Given the description of an element on the screen output the (x, y) to click on. 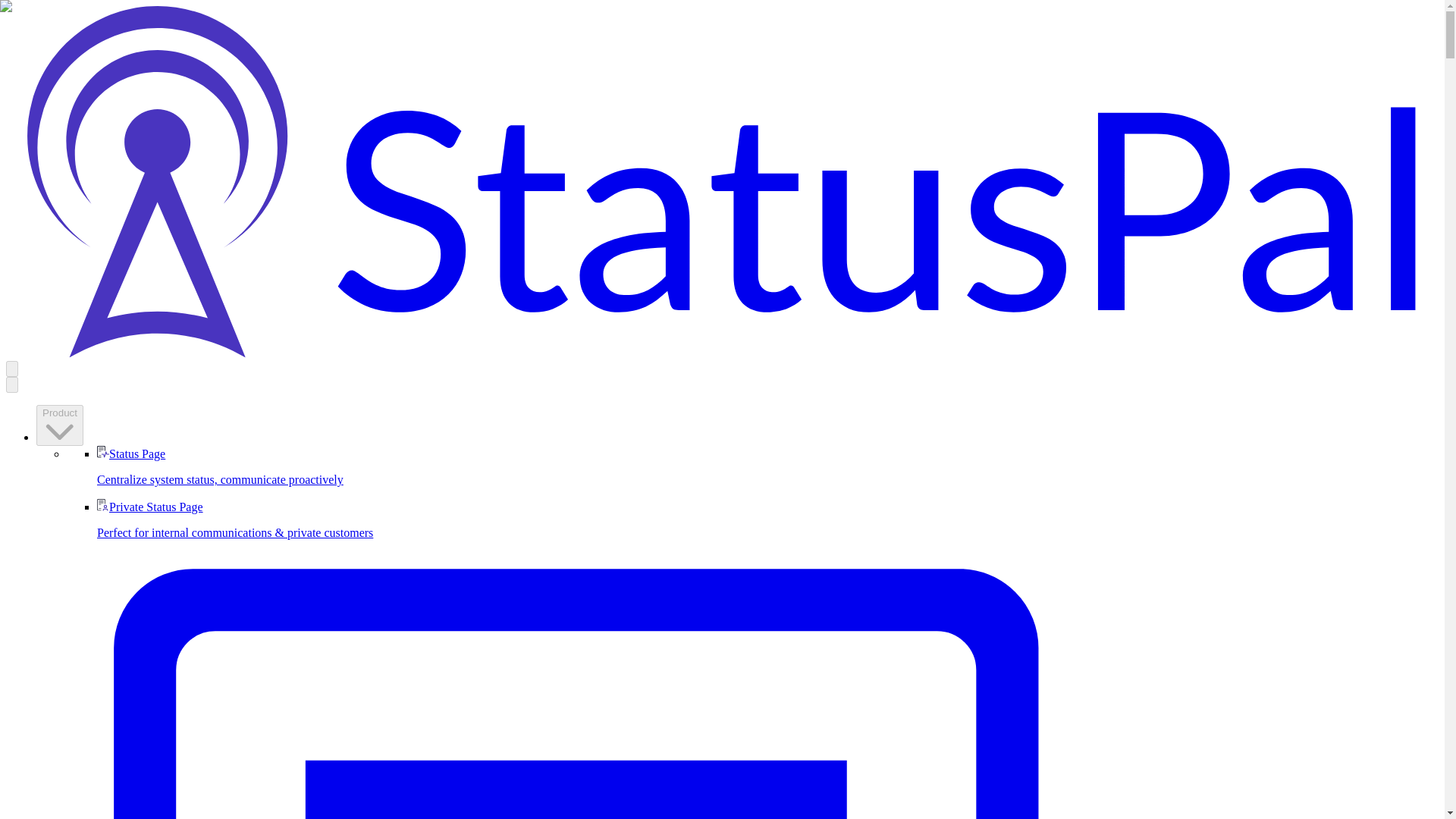
Product (59, 425)
